Given the description of an element on the screen output the (x, y) to click on. 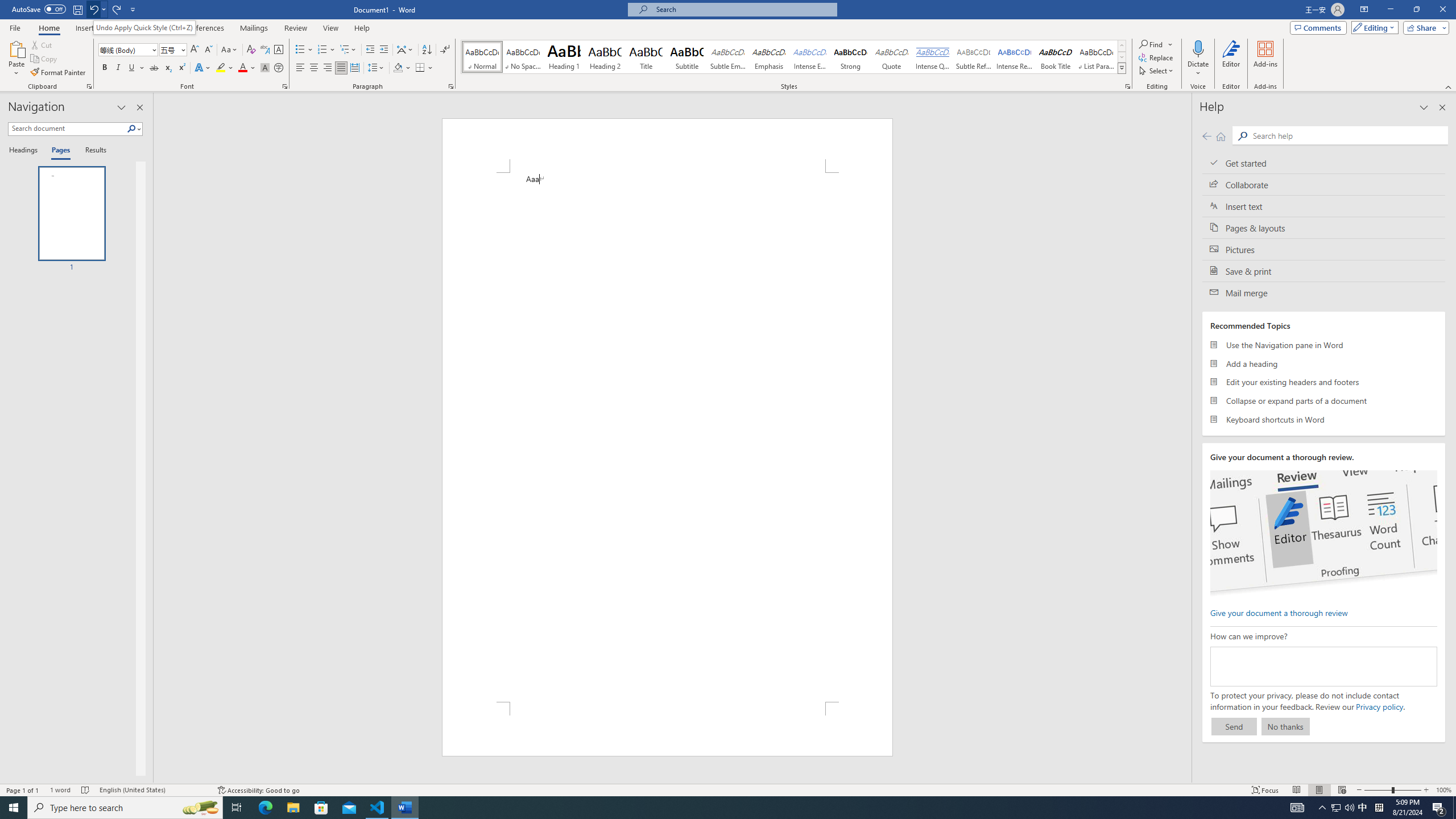
Keyboard shortcuts in Word (1323, 419)
Paragraph... (450, 85)
Align Right (327, 67)
Add a heading (1323, 363)
Styles (1121, 67)
Pages & layouts (1323, 228)
Shrink Font (208, 49)
Results (91, 150)
Collaborate (1323, 184)
Zoom (1392, 790)
